Given the description of an element on the screen output the (x, y) to click on. 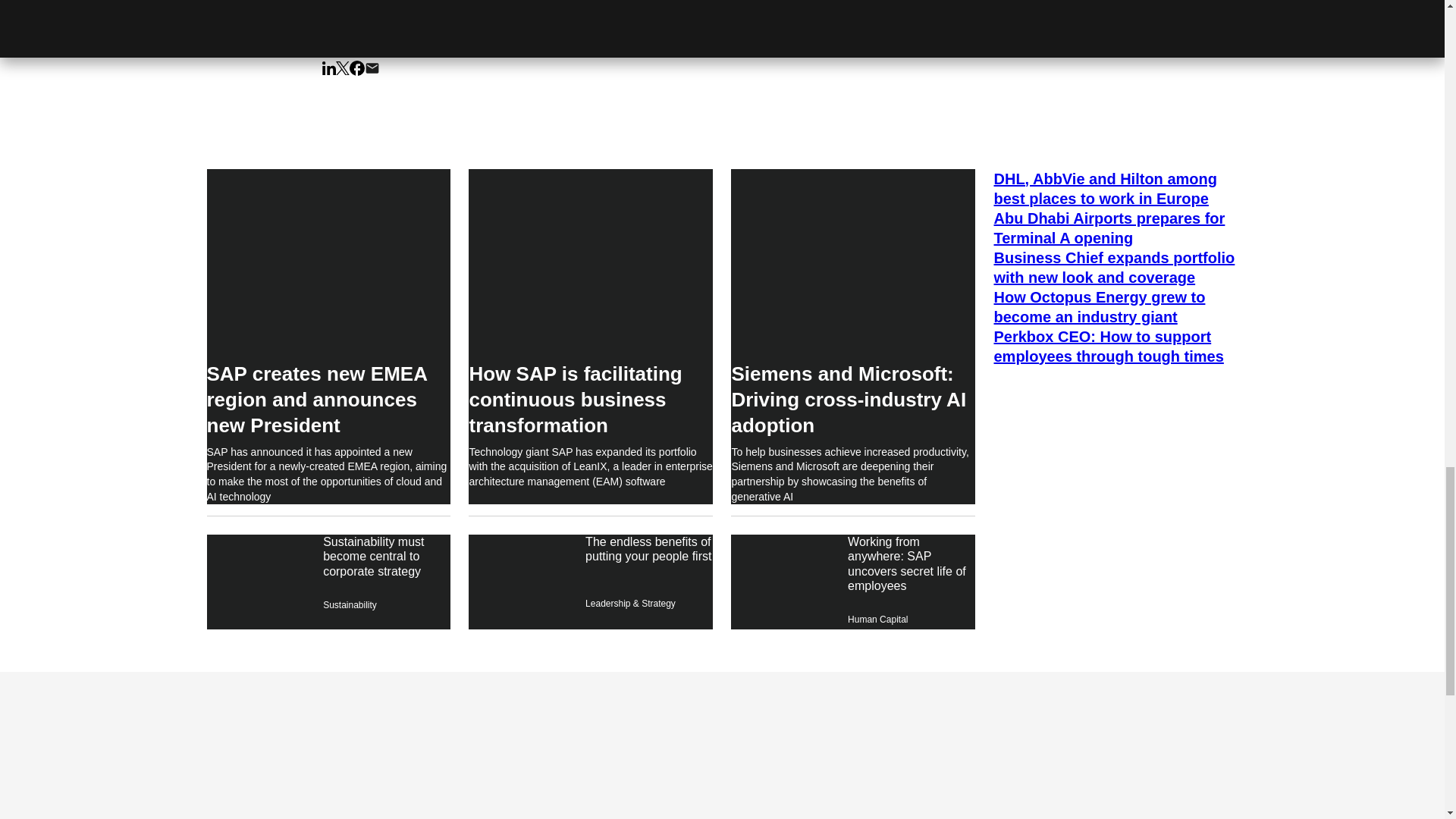
kate middleton (451, 6)
How Octopus Energy grew to become an industry giant (1114, 306)
Abu Dhabi Airports prepares for Terminal A opening (1114, 228)
DHL, AbbVie and Hilton among best places to work in Europe (1114, 188)
African Cats (506, 6)
African wildlife (560, 6)
African Business Review (371, 6)
Business Chief expands portfolio with new look and coverage (1114, 267)
Perkbox CEO: How to support employees through tough times (1114, 346)
